Given the description of an element on the screen output the (x, y) to click on. 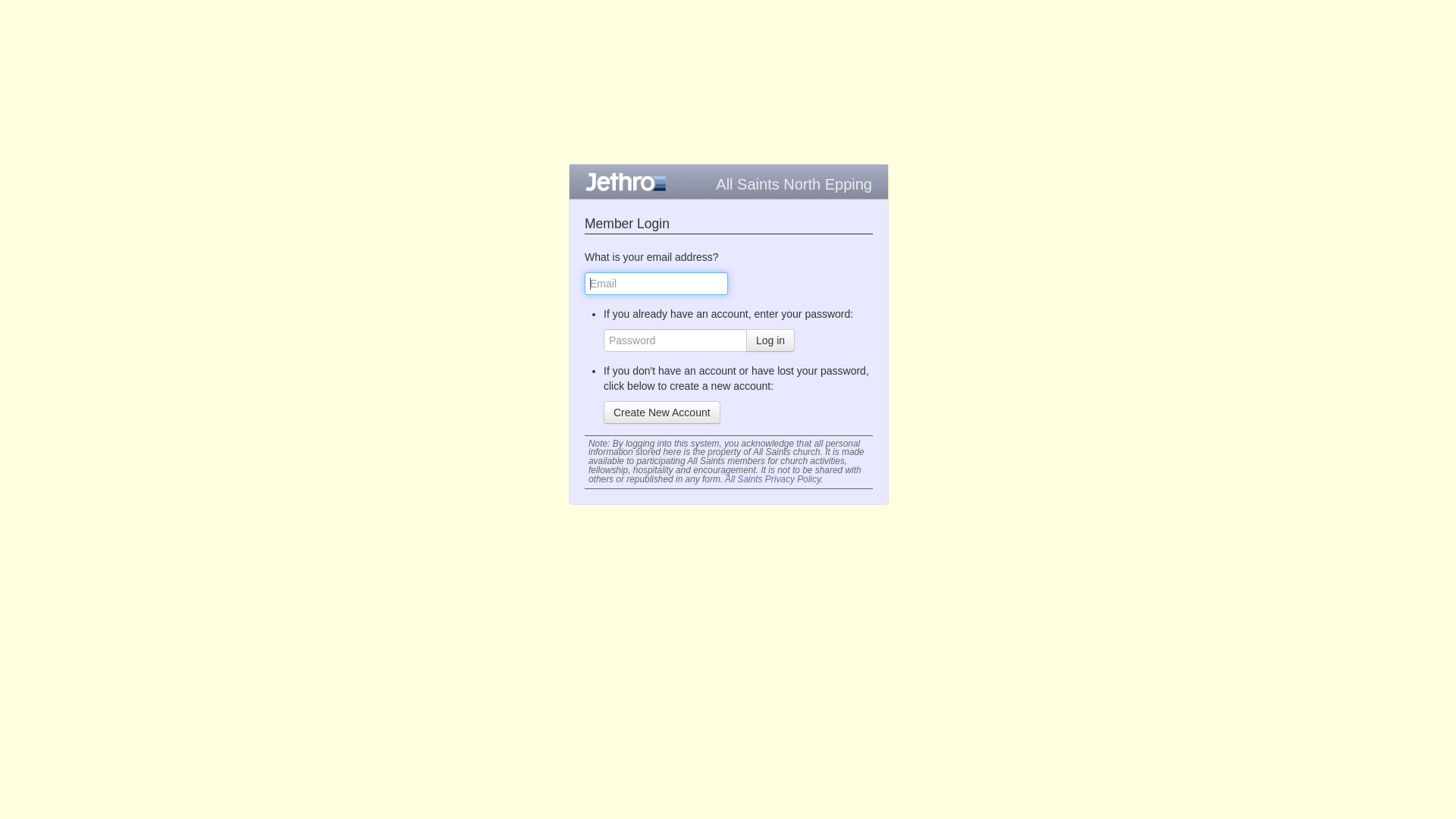
All Saints Privacy Policy Element type: text (772, 478)
Log in Element type: text (770, 340)
Create New Account Element type: text (661, 411)
